Given the description of an element on the screen output the (x, y) to click on. 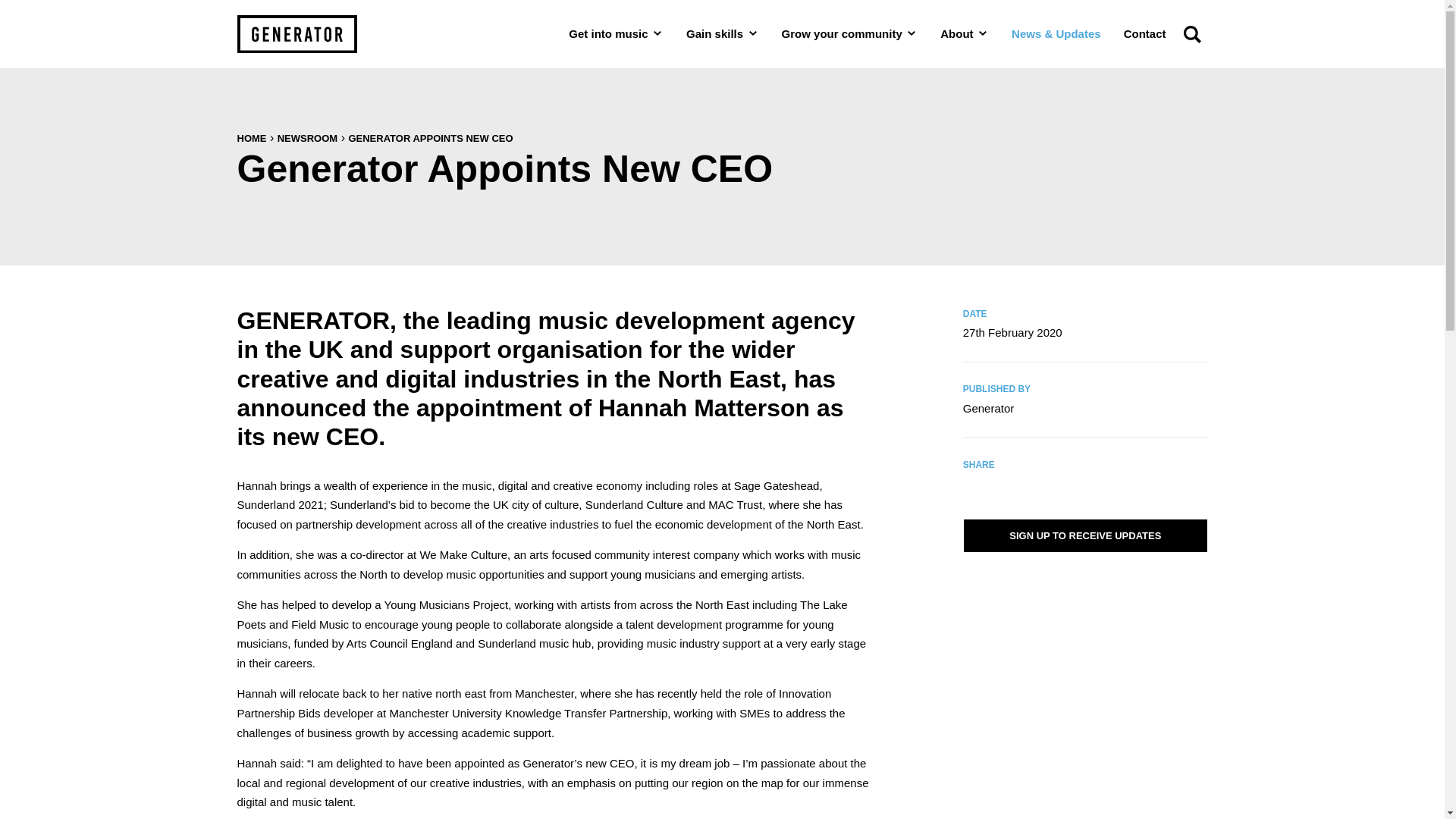
Contact (1144, 33)
Grow your community (850, 33)
SIGN UP TO RECEIVE UPDATES (1085, 535)
About (964, 33)
Sign up to receive Generator updates (1085, 535)
Return to the main Generator website (295, 34)
Search Generator (1191, 33)
HOME (250, 138)
Get into music (616, 33)
NEWSROOM (307, 138)
Gain skills (722, 33)
